Given the description of an element on the screen output the (x, y) to click on. 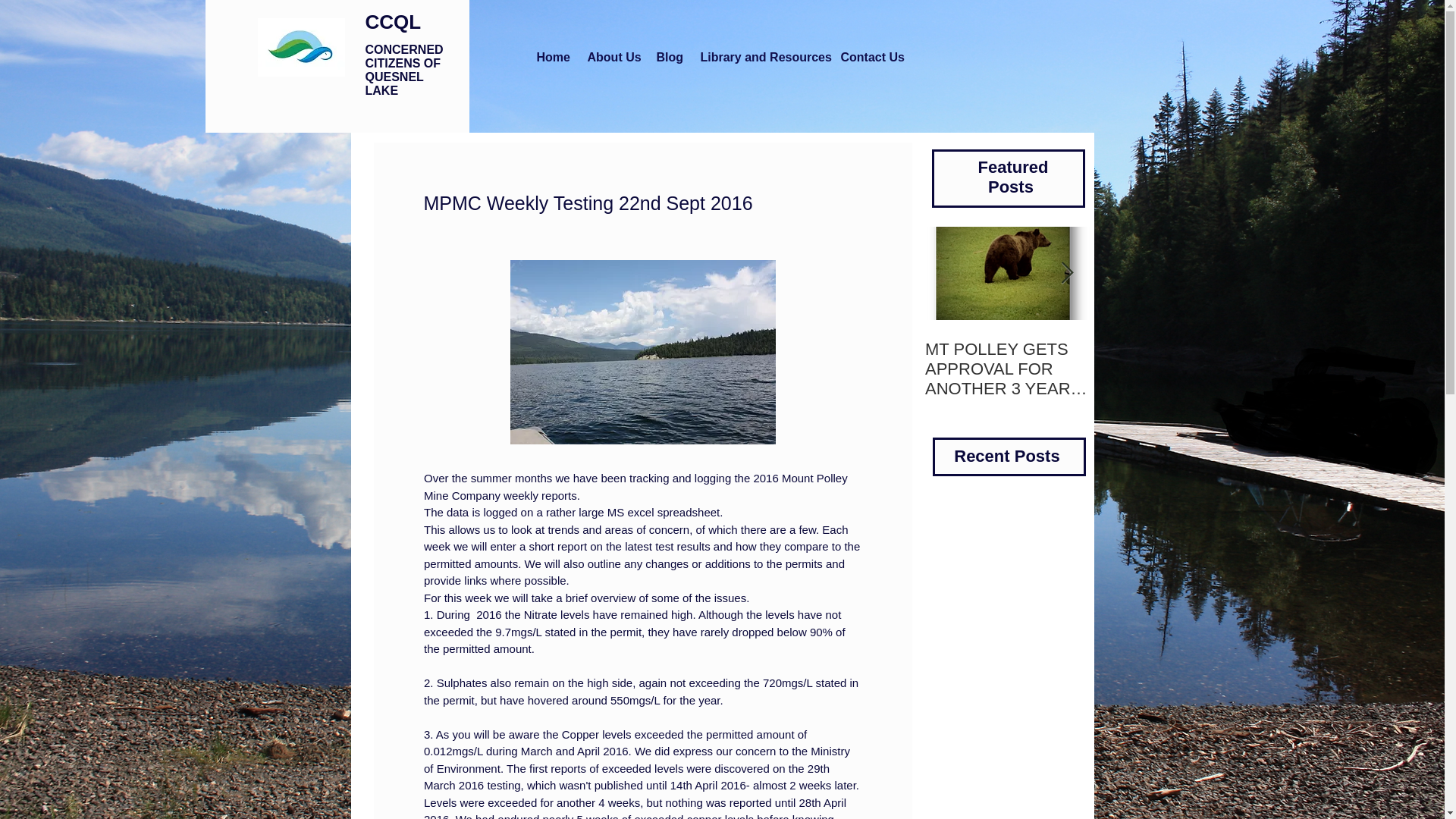
Library and Resources (759, 57)
Home (550, 57)
Contact Us (870, 57)
About Us (612, 57)
Blog (668, 57)
